Given the description of an element on the screen output the (x, y) to click on. 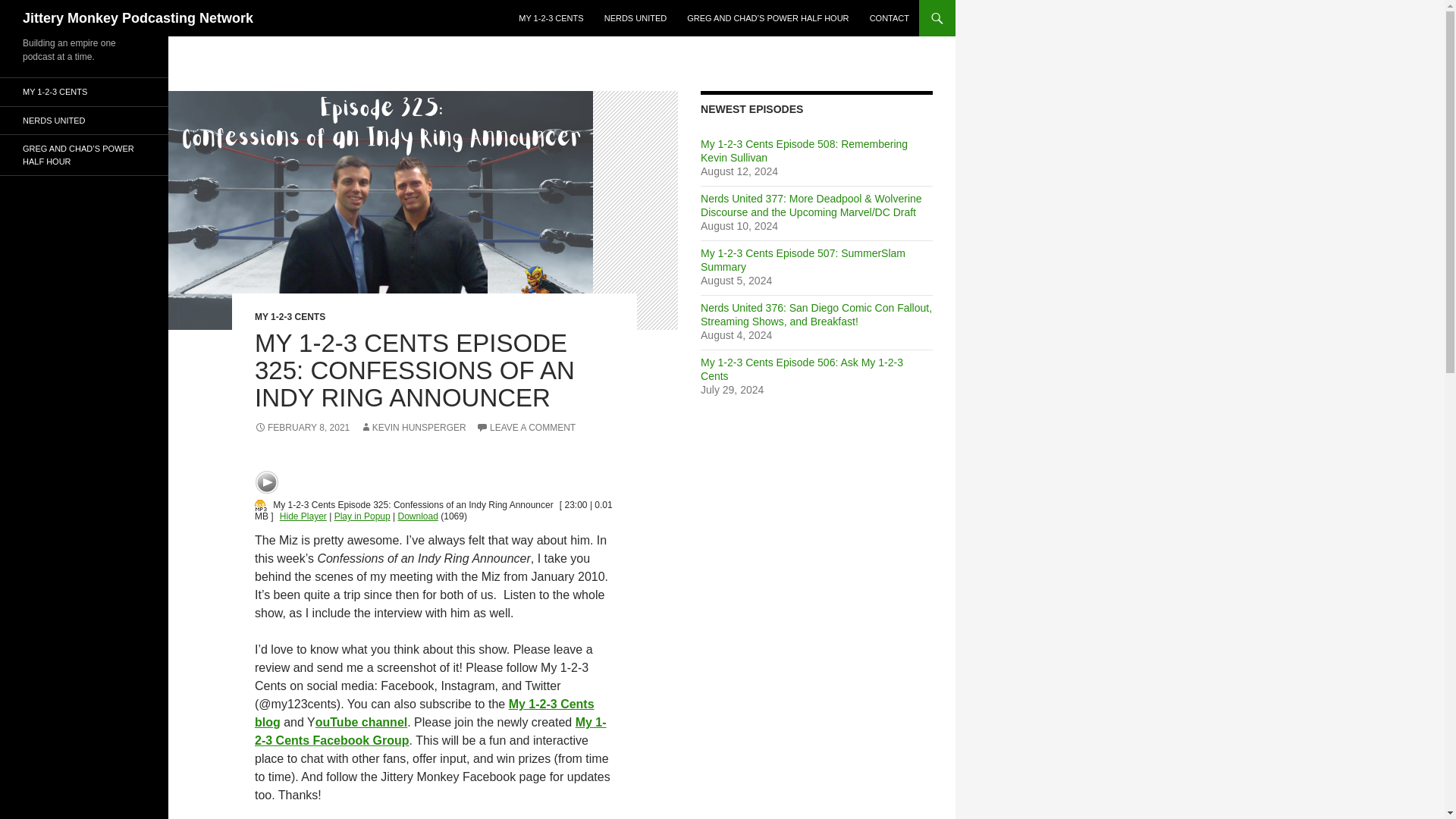
Jittery Monkey Podcasting Network (138, 18)
MY 1-2-3 CENTS (289, 317)
Play in Popup (362, 516)
My 1-2-3 Cents blog (424, 712)
KEVIN HUNSPERGER (412, 427)
Hide Player (302, 516)
MY 1-2-3 CENTS (550, 18)
My 1-2-3 Cents Facebook Group (430, 730)
Download (417, 516)
